Given the description of an element on the screen output the (x, y) to click on. 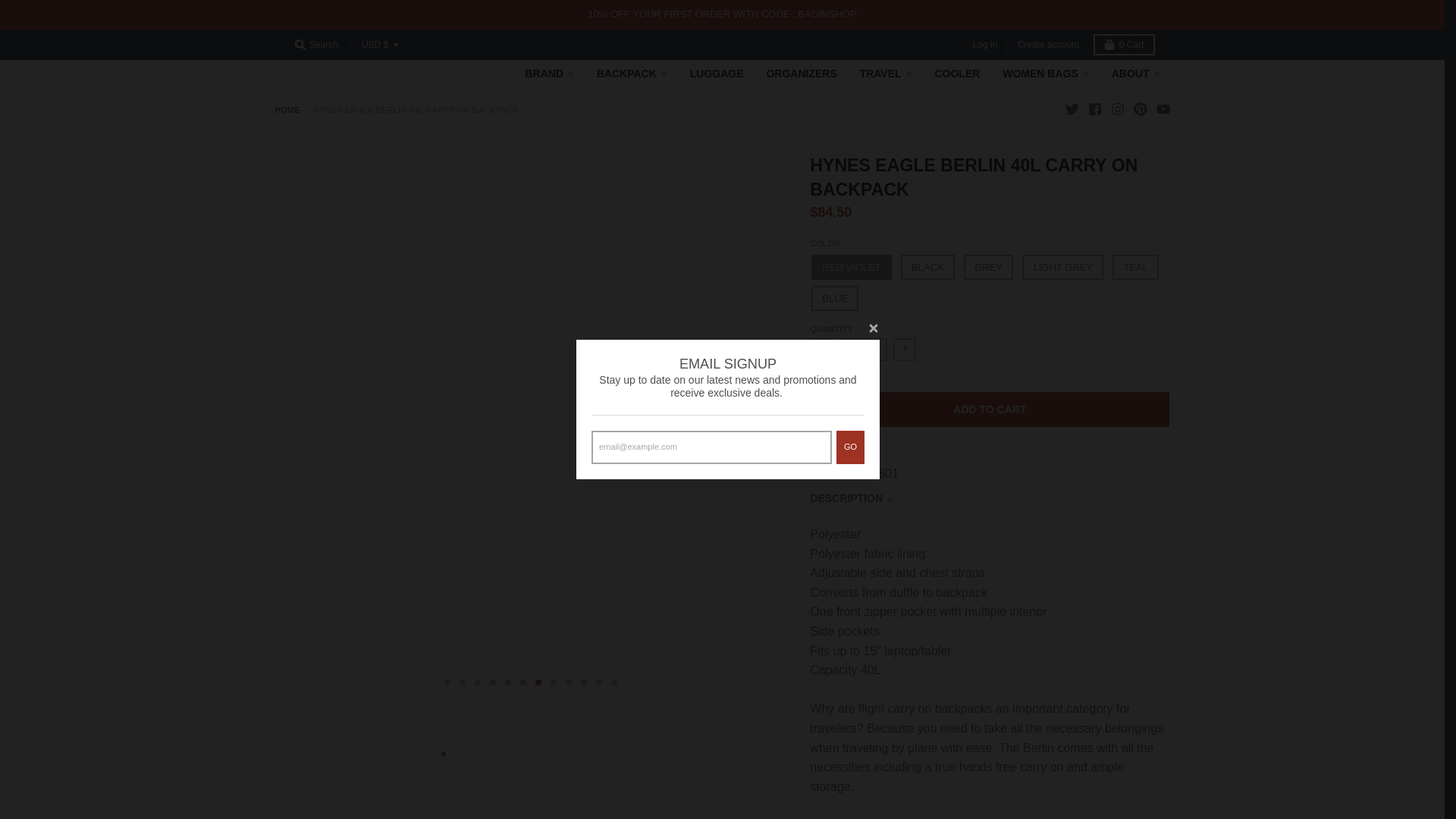
ORGANIZERS (800, 72)
Twitter - BAGINSHOP (1071, 109)
Light Grey (1062, 267)
BACKPACK (631, 72)
Facebook - BAGINSHOP (1093, 109)
Back to the frontpage (287, 109)
Create account (1048, 45)
LUGGAGE (716, 72)
Log in (985, 45)
